Given the description of an element on the screen output the (x, y) to click on. 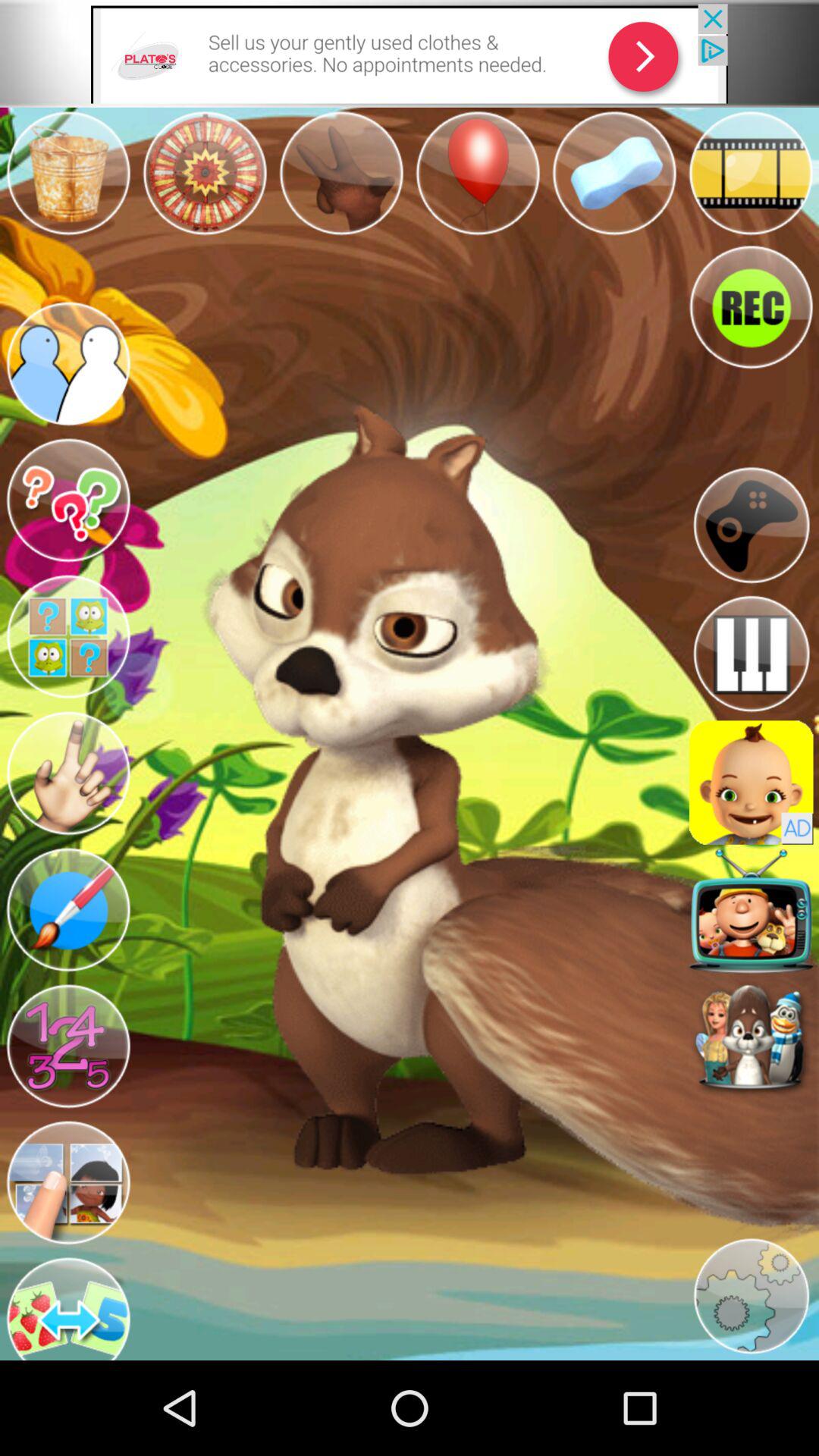
numerical (68, 1046)
